Given the description of an element on the screen output the (x, y) to click on. 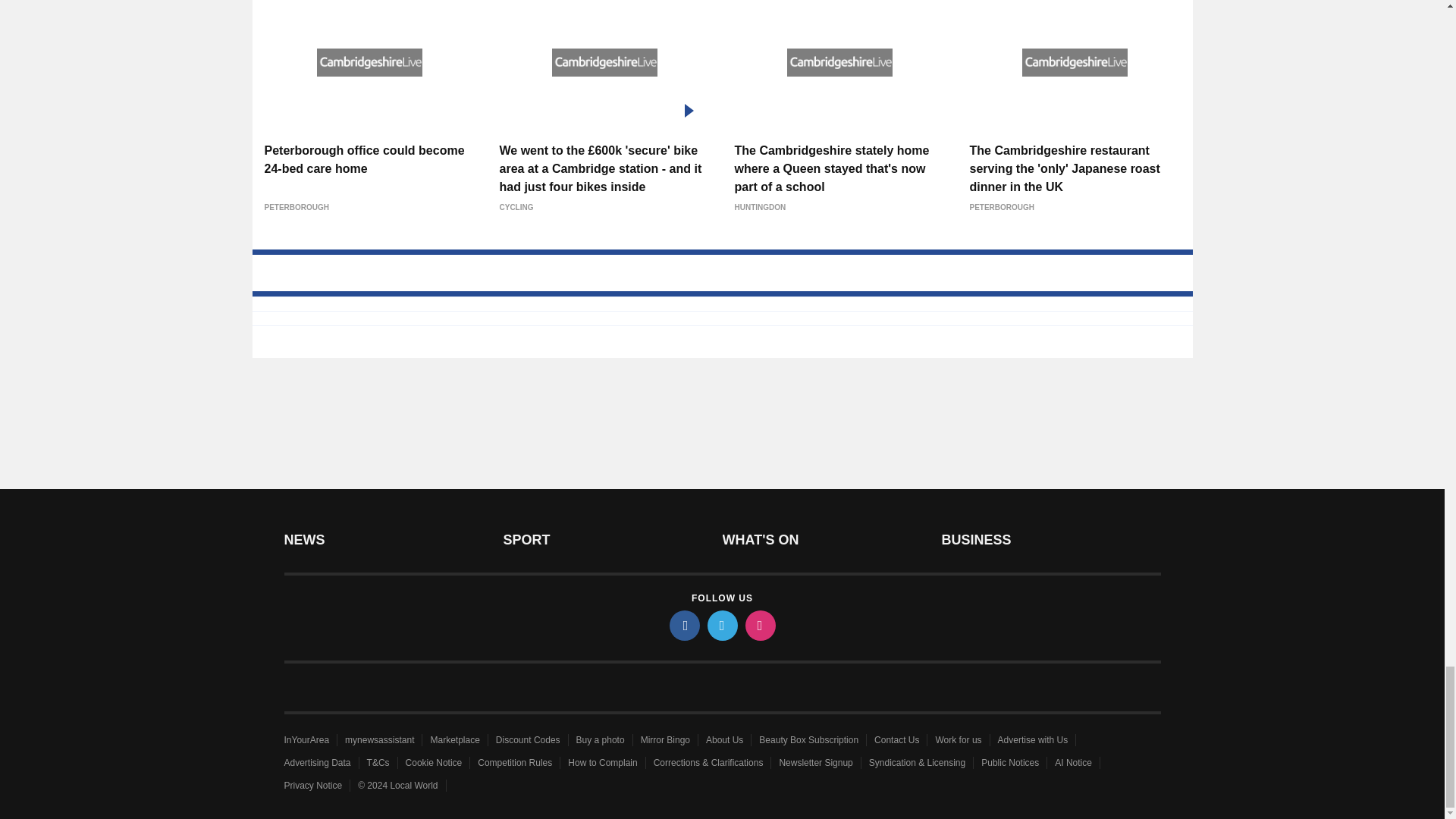
facebook (683, 625)
instagram (759, 625)
twitter (721, 625)
